Given the description of an element on the screen output the (x, y) to click on. 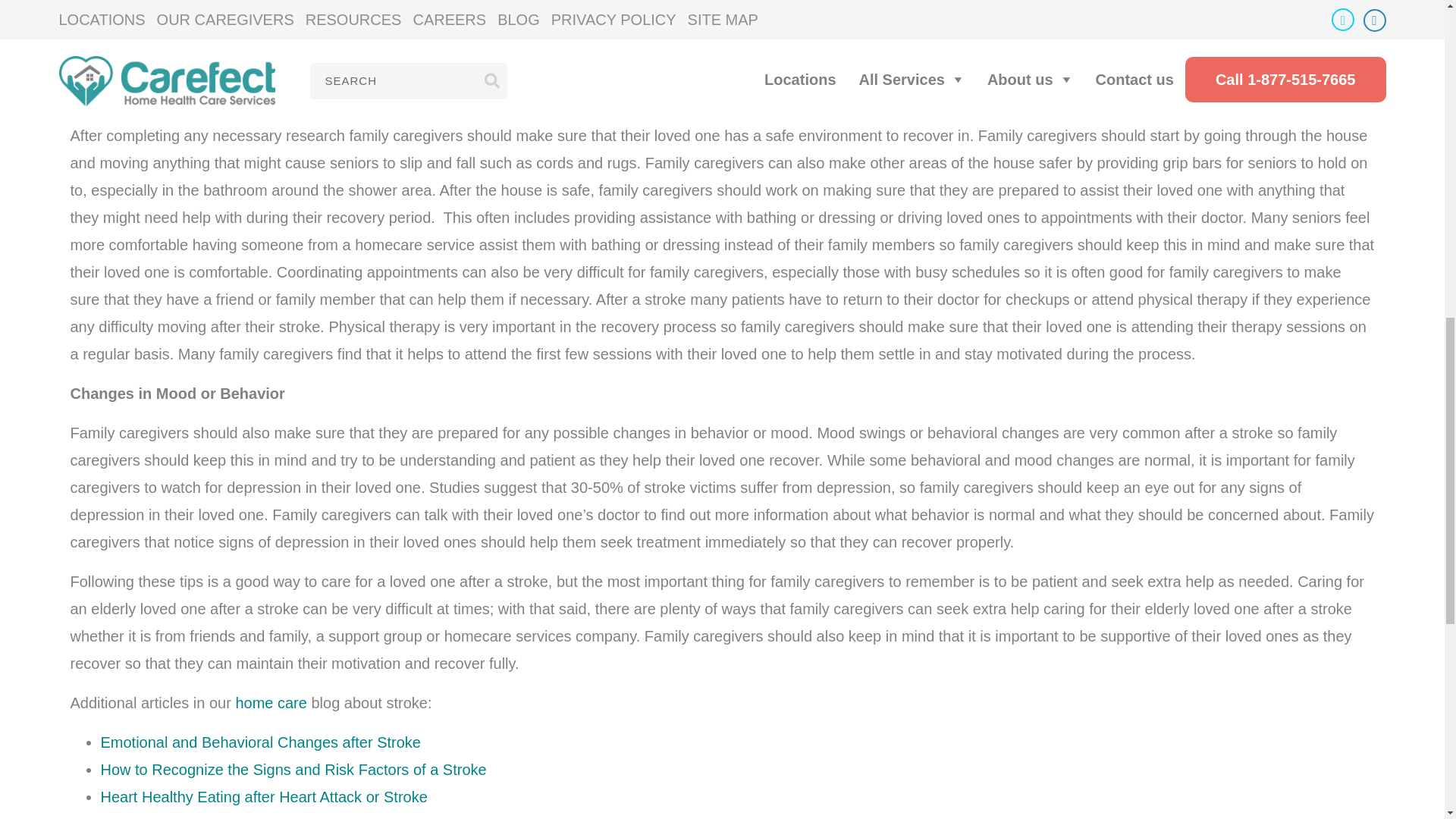
How to Recognize the Signs and Risk Factors of a Stroke (293, 769)
Heart Healthy Eating after Heart Attack or Stroke (263, 796)
Emotional and Behavioral Changes after Stroke (260, 742)
